Given the description of an element on the screen output the (x, y) to click on. 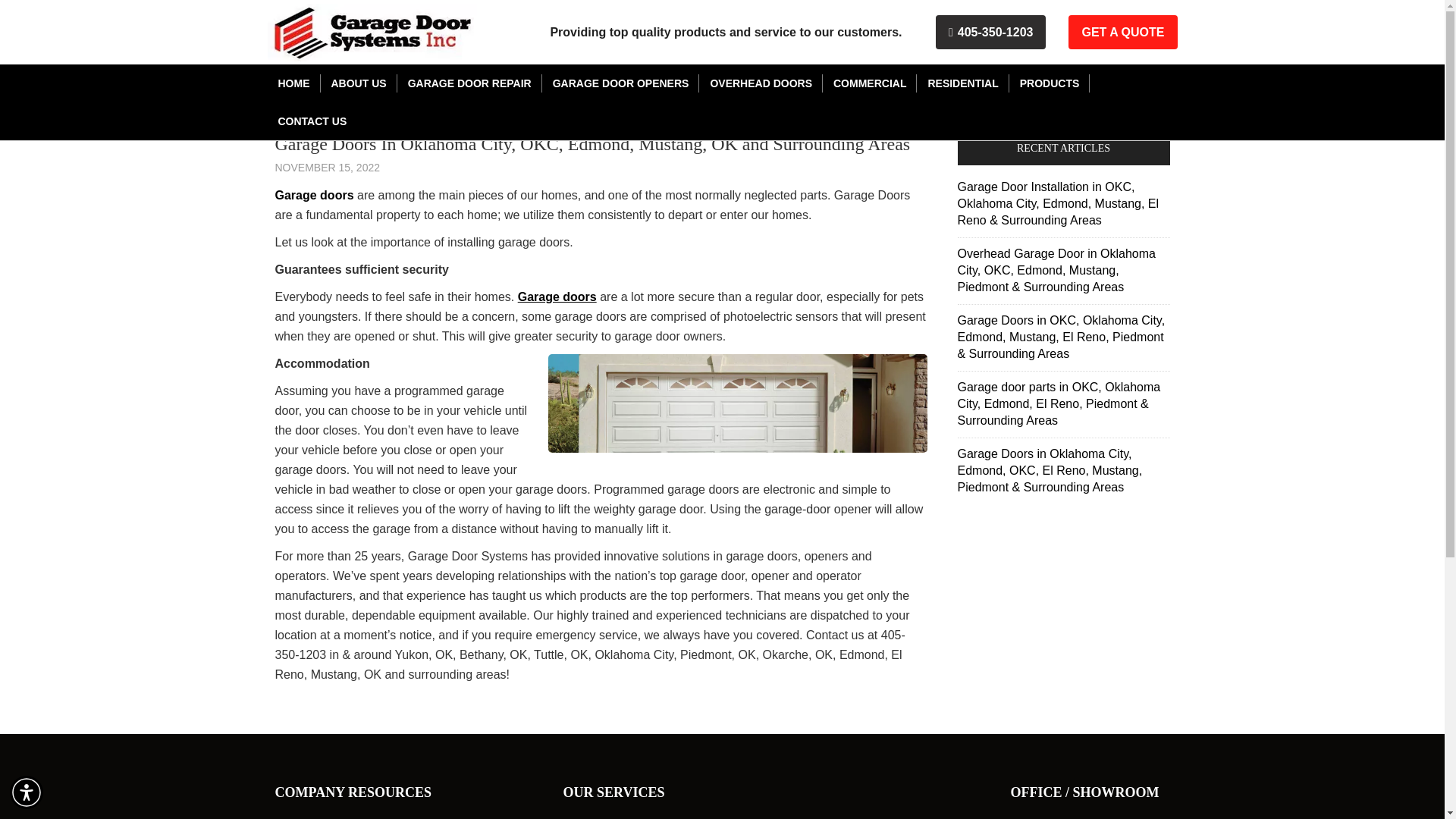
Accessibility Menu (26, 792)
405-350-1203 (990, 32)
GARAGE DOOR REPAIR (469, 83)
HOME (293, 83)
COMMERCIAL (869, 83)
GARAGE DOOR OPENERS (620, 83)
RESIDENTIAL (963, 83)
PRODUCTS (1049, 83)
Garage doors (315, 195)
Garage doors (557, 296)
